Given the description of an element on the screen output the (x, y) to click on. 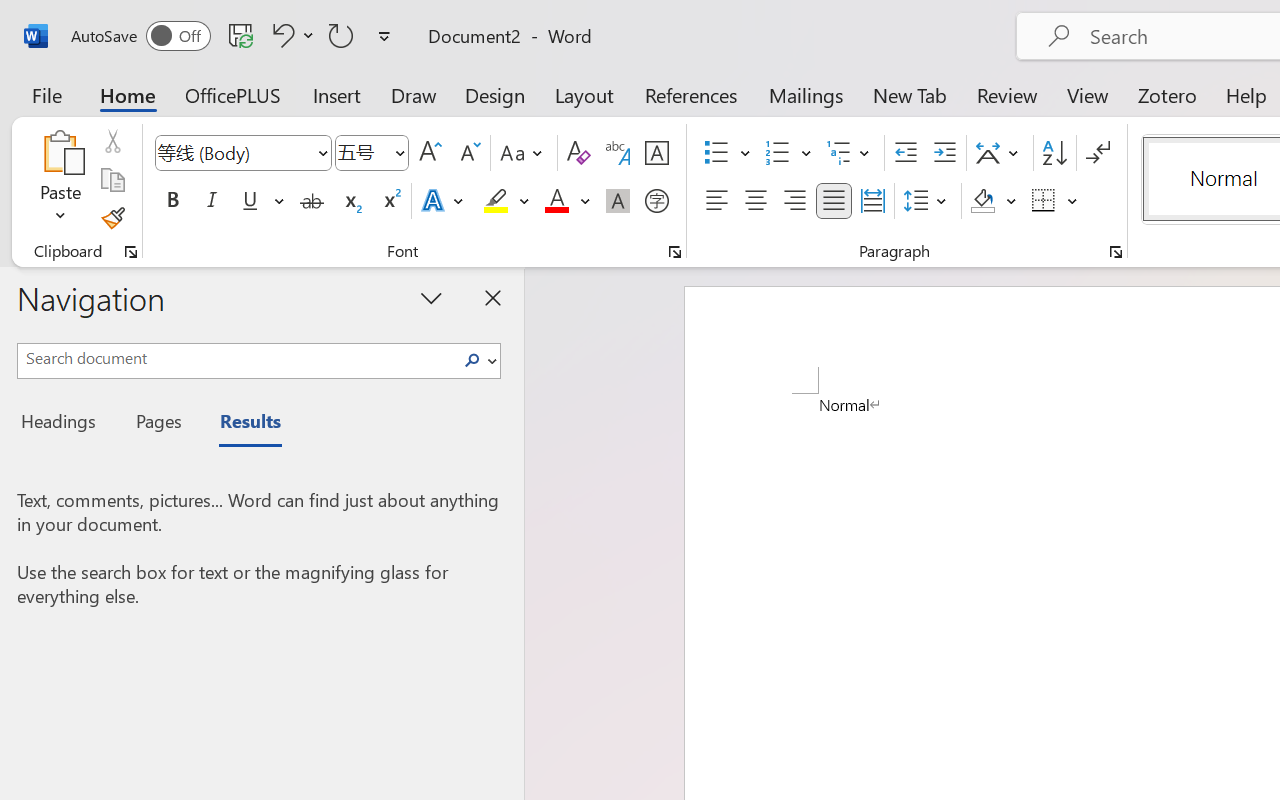
Cut (112, 141)
View (1087, 94)
Font (234, 152)
Office Clipboard... (131, 252)
Center (756, 201)
Distributed (872, 201)
Clear Formatting (578, 153)
Justify (834, 201)
Subscript (350, 201)
Decrease Indent (906, 153)
Paste (60, 179)
Quick Access Toolbar (233, 36)
Bold (172, 201)
Class: NetUIImage (471, 360)
Font Color (567, 201)
